Given the description of an element on the screen output the (x, y) to click on. 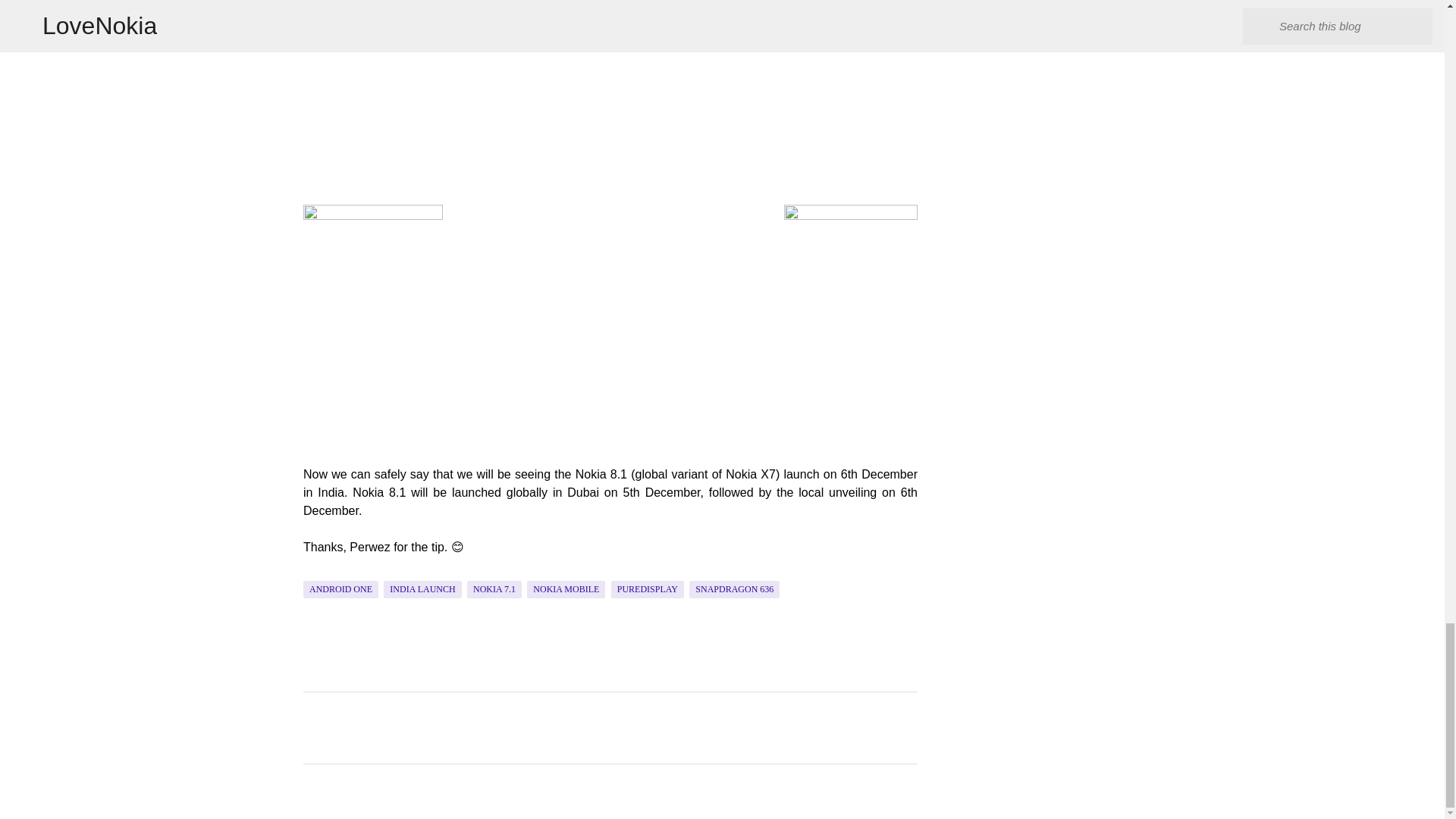
SNAPDRAGON 636 (733, 589)
NOKIA 7.1 (494, 589)
NOKIA MOBILE (566, 589)
INDIA LAUNCH (422, 589)
PUREDISPLAY (647, 589)
ANDROID ONE (340, 589)
